Given the description of an element on the screen output the (x, y) to click on. 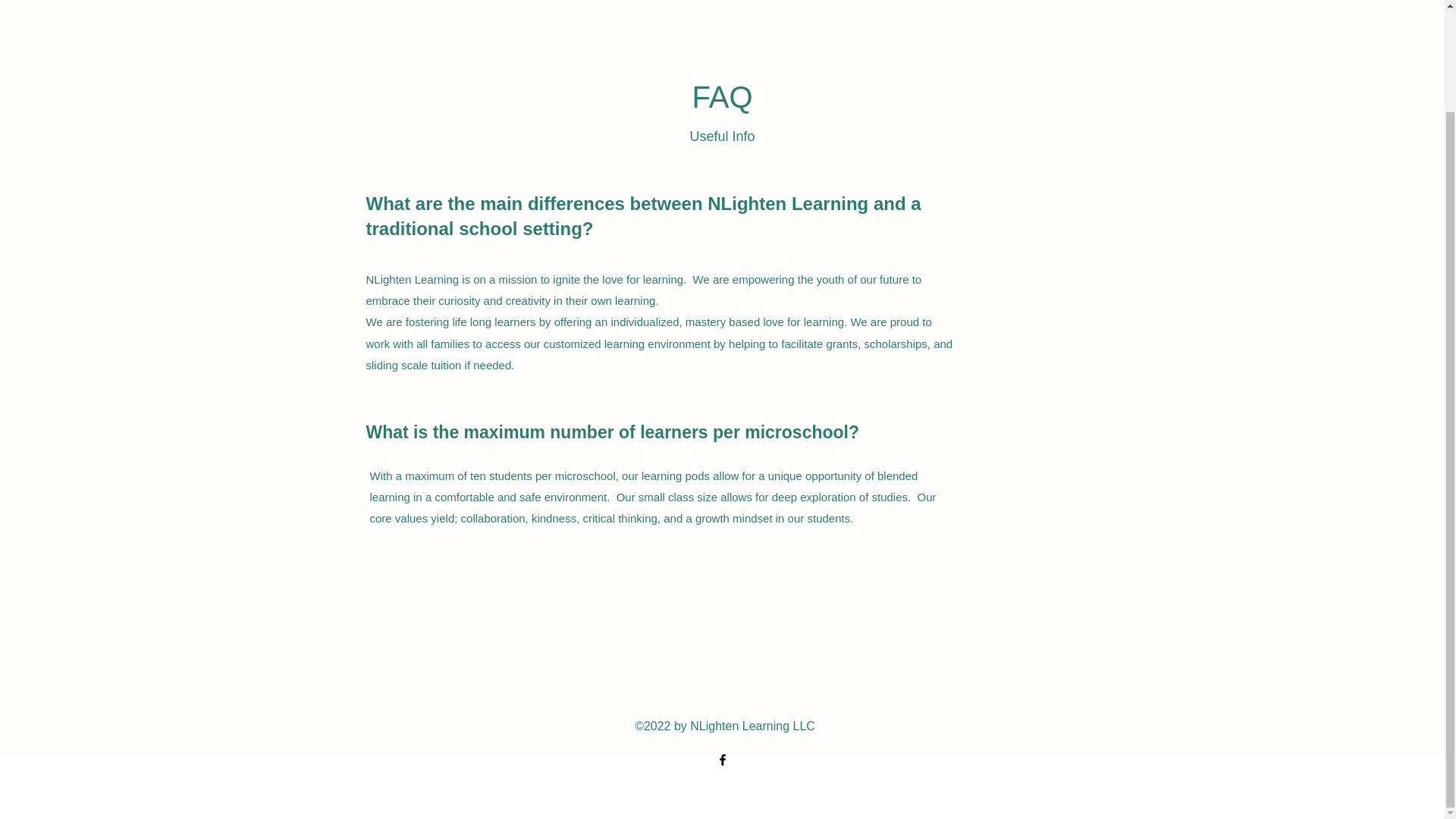
News (915, 0)
Contact (759, 0)
Philosophy (645, 0)
Home (529, 0)
Testimonials (821, 0)
About Us (581, 0)
Services (705, 0)
